Given the description of an element on the screen output the (x, y) to click on. 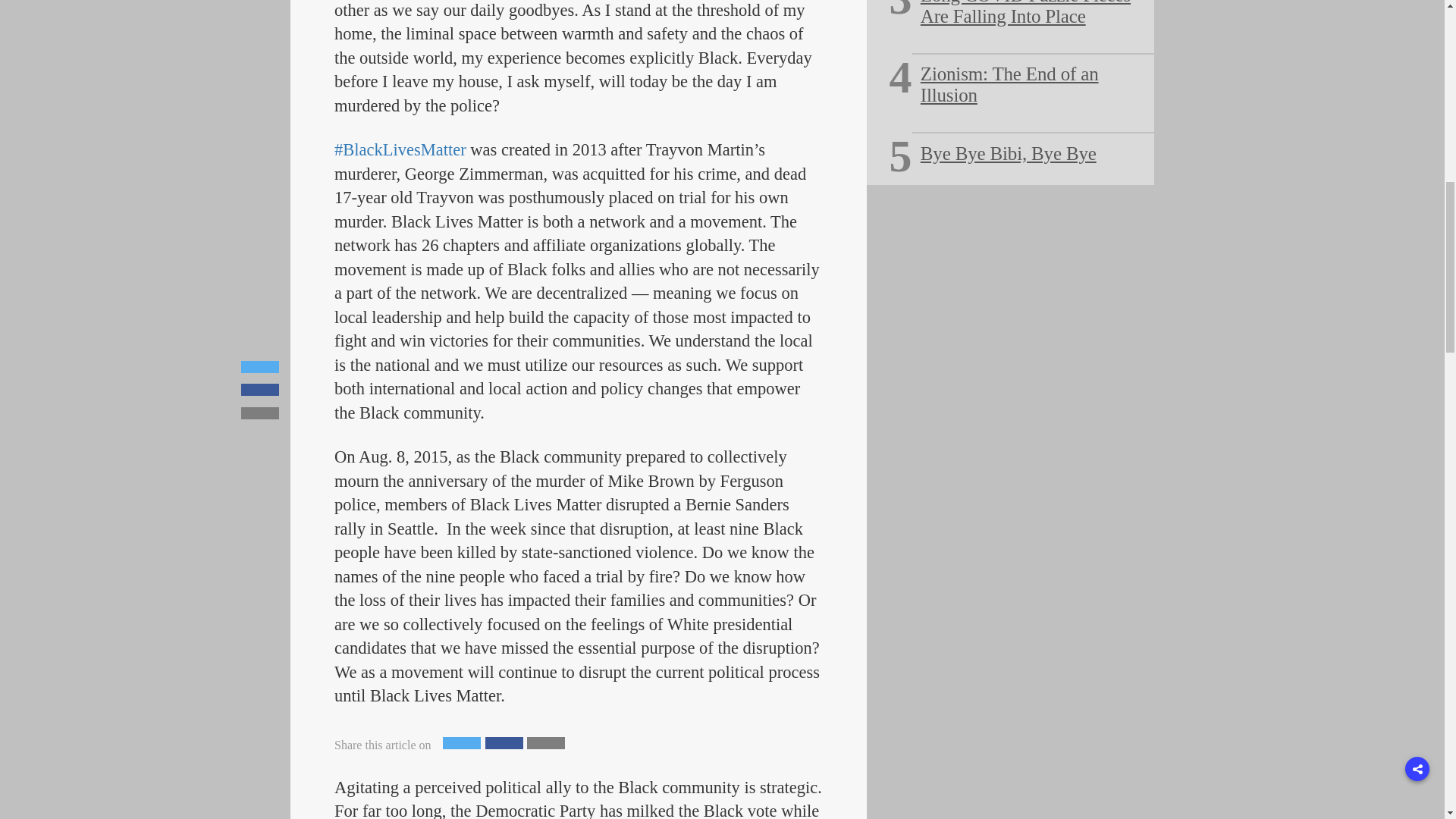
Twitter (461, 743)
Twitter (461, 743)
Facebook (503, 743)
Mail (545, 743)
Mail (545, 743)
Facebook (503, 743)
